Given the description of an element on the screen output the (x, y) to click on. 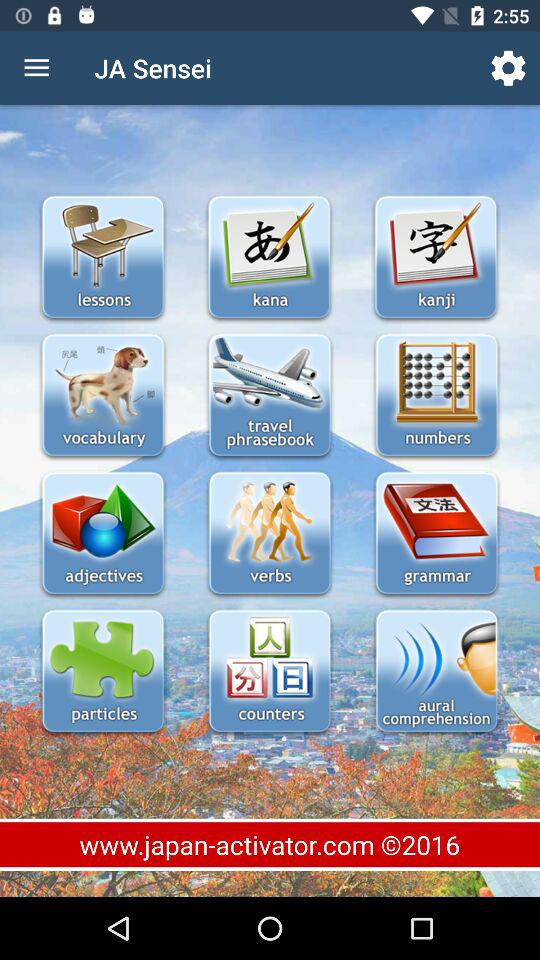
go to lessons (102, 258)
